Given the description of an element on the screen output the (x, y) to click on. 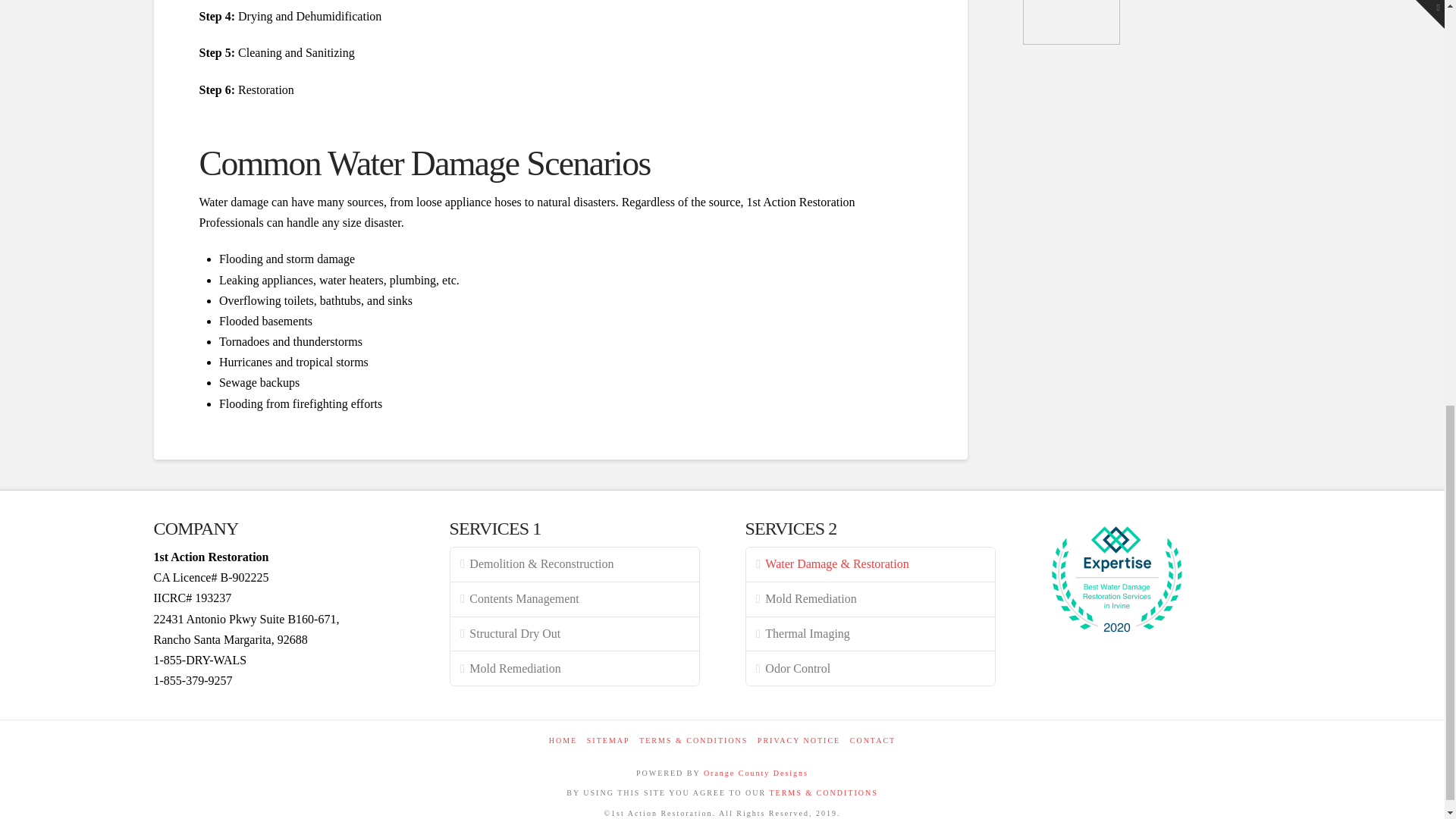
Mold Remediation (573, 668)
Contents Management (573, 599)
XDESIGN (755, 773)
Structural Dry Out (573, 634)
